Given the description of an element on the screen output the (x, y) to click on. 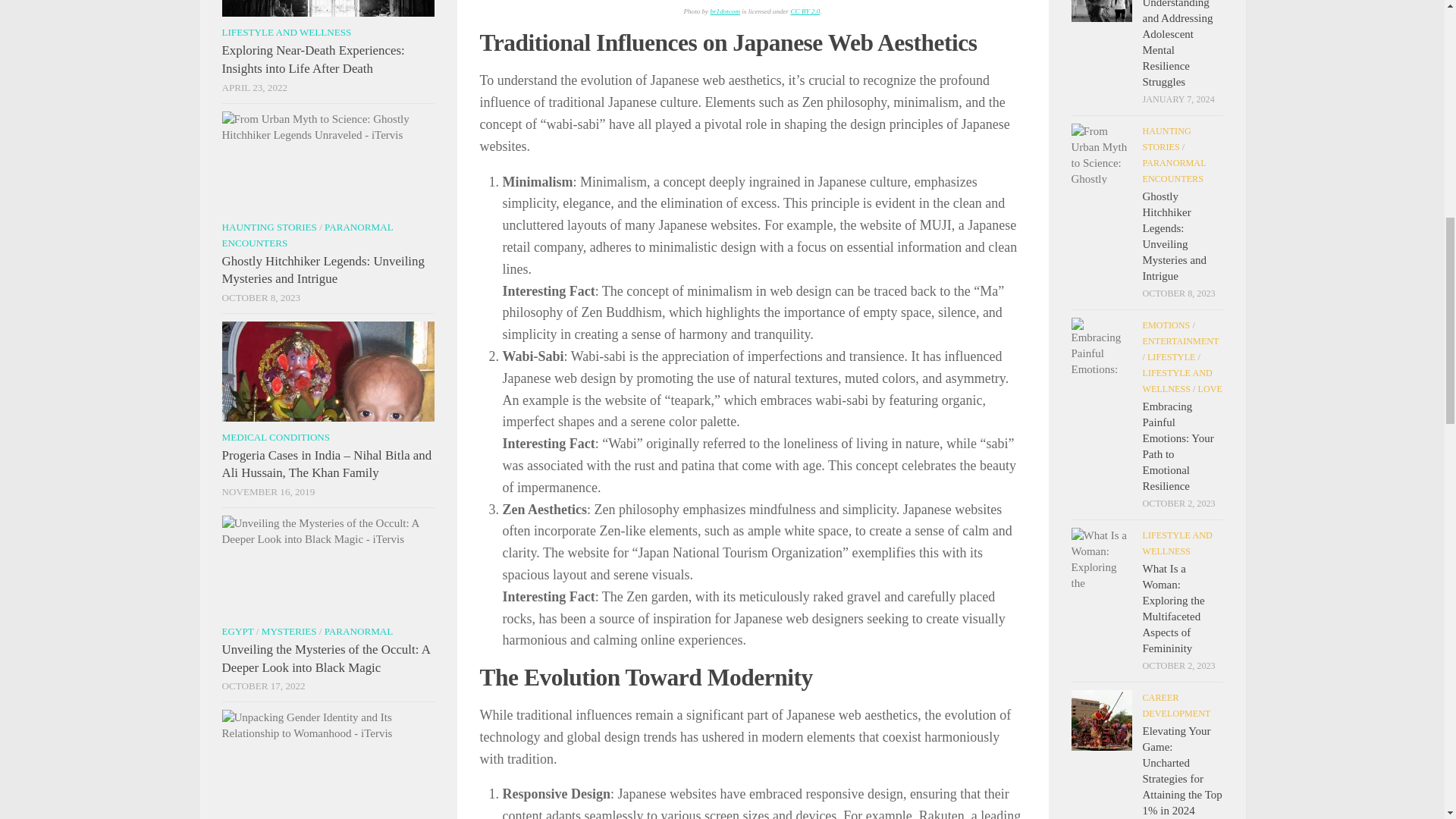
EGYPT (237, 631)
PARANORMAL (358, 631)
MYSTERIES (289, 631)
Ghostly Hitchhiker Legends: Unveiling Mysteries and Intrigue (322, 269)
CC BY 2.0 (804, 11)
br1dotcom (724, 11)
HAUNTING STORIES (268, 226)
MEDICAL CONDITIONS (275, 437)
